Given the description of an element on the screen output the (x, y) to click on. 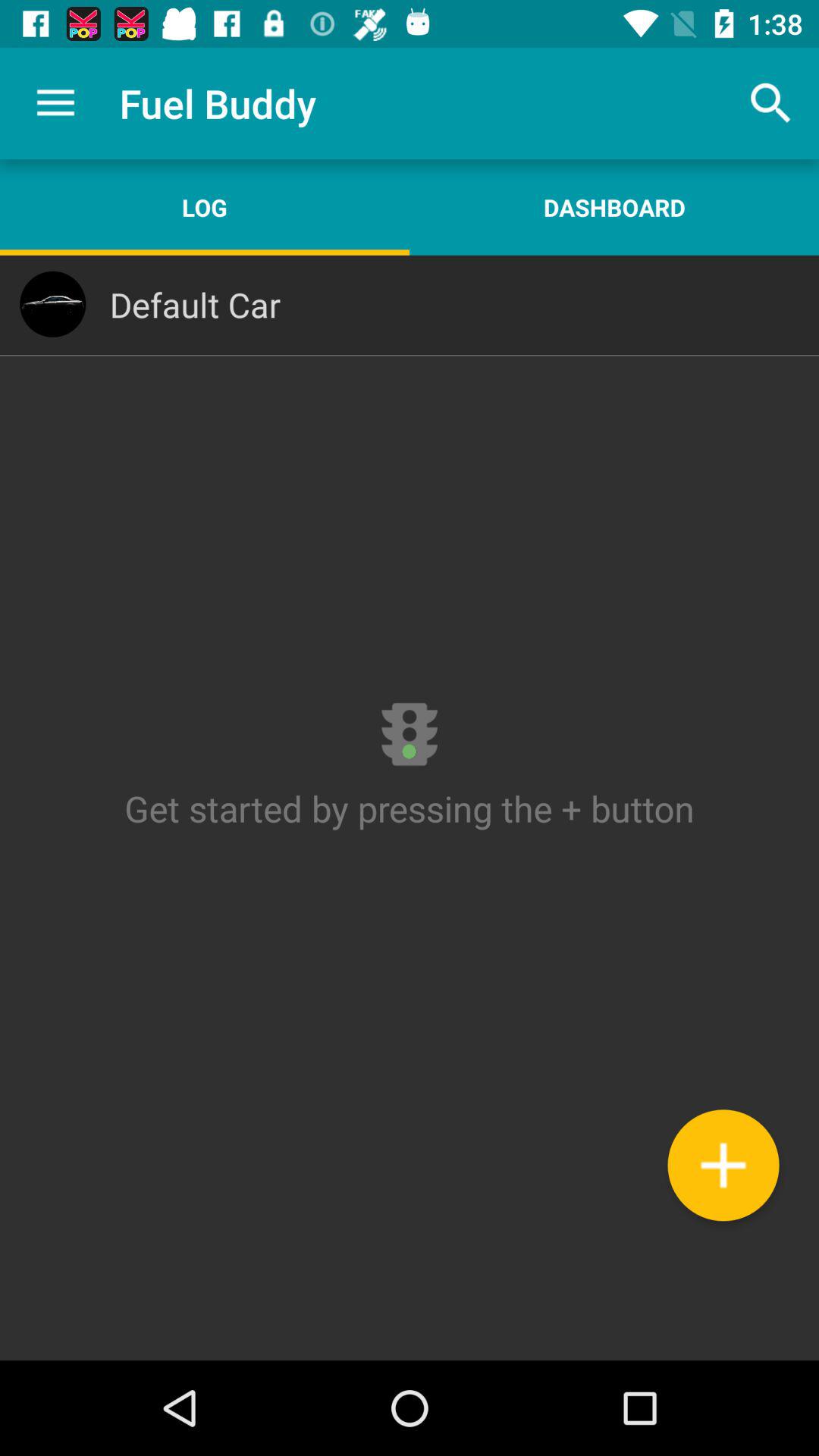
turn off the app next to the log (614, 207)
